Given the description of an element on the screen output the (x, y) to click on. 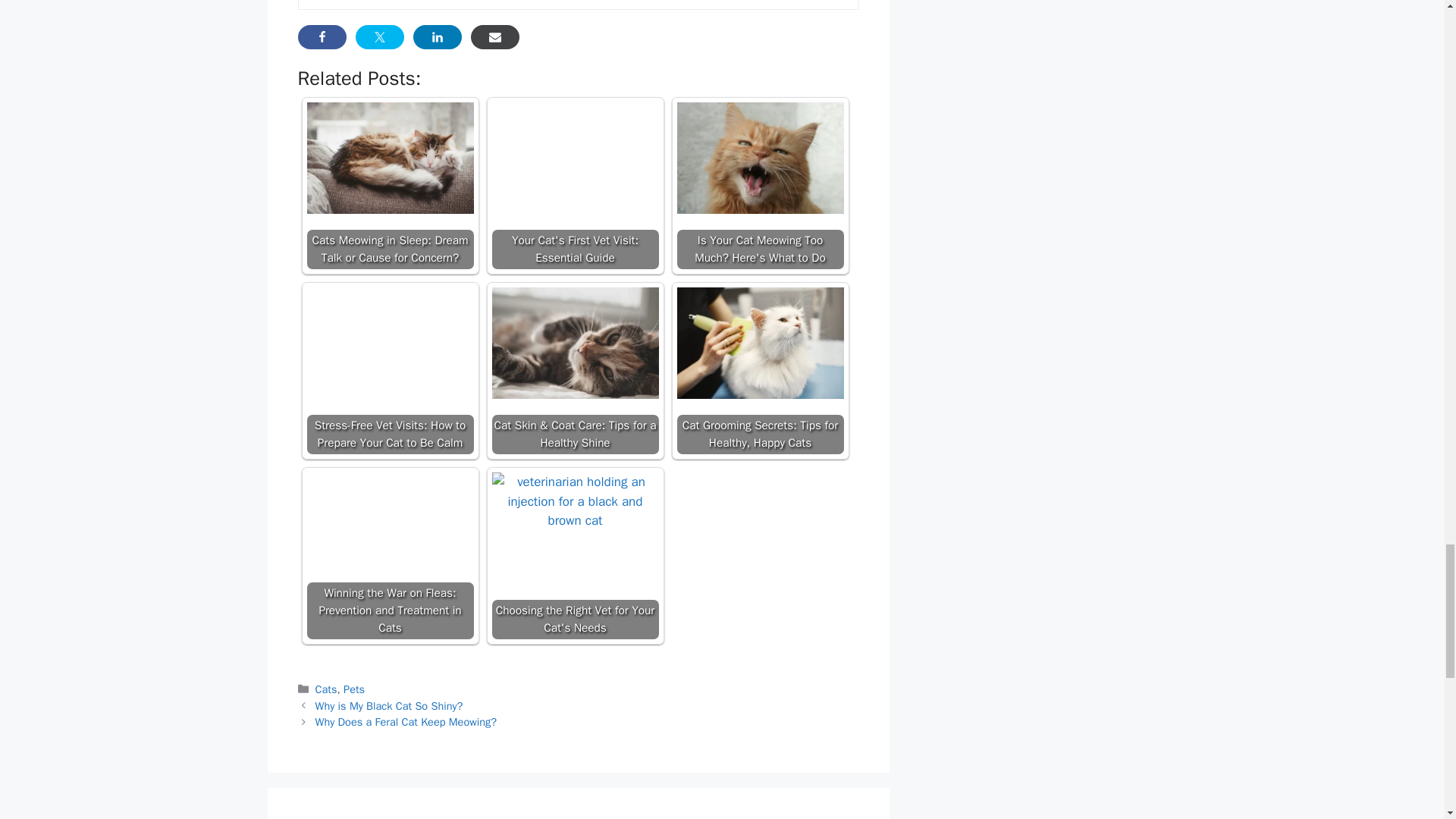
Cat Grooming Secrets: Tips for Healthy, Happy Cats (760, 342)
Cats Meowing in Sleep: Dream Talk or Cause for Concern? (389, 157)
Share via Email (494, 37)
Stress-Free Vet Visits: How to Prepare Your Cat to Be Calm (389, 349)
Is Your Cat Meowing Too Much? Here's What to Do (760, 157)
Share on Facebook (321, 37)
Winning the War on Fleas: Prevention and Treatment in Cats (389, 527)
Your Cat's First Vet Visit: Essential Guide (575, 157)
Share on Twitter (379, 37)
Share on LinkedIn (436, 37)
